Given the description of an element on the screen output the (x, y) to click on. 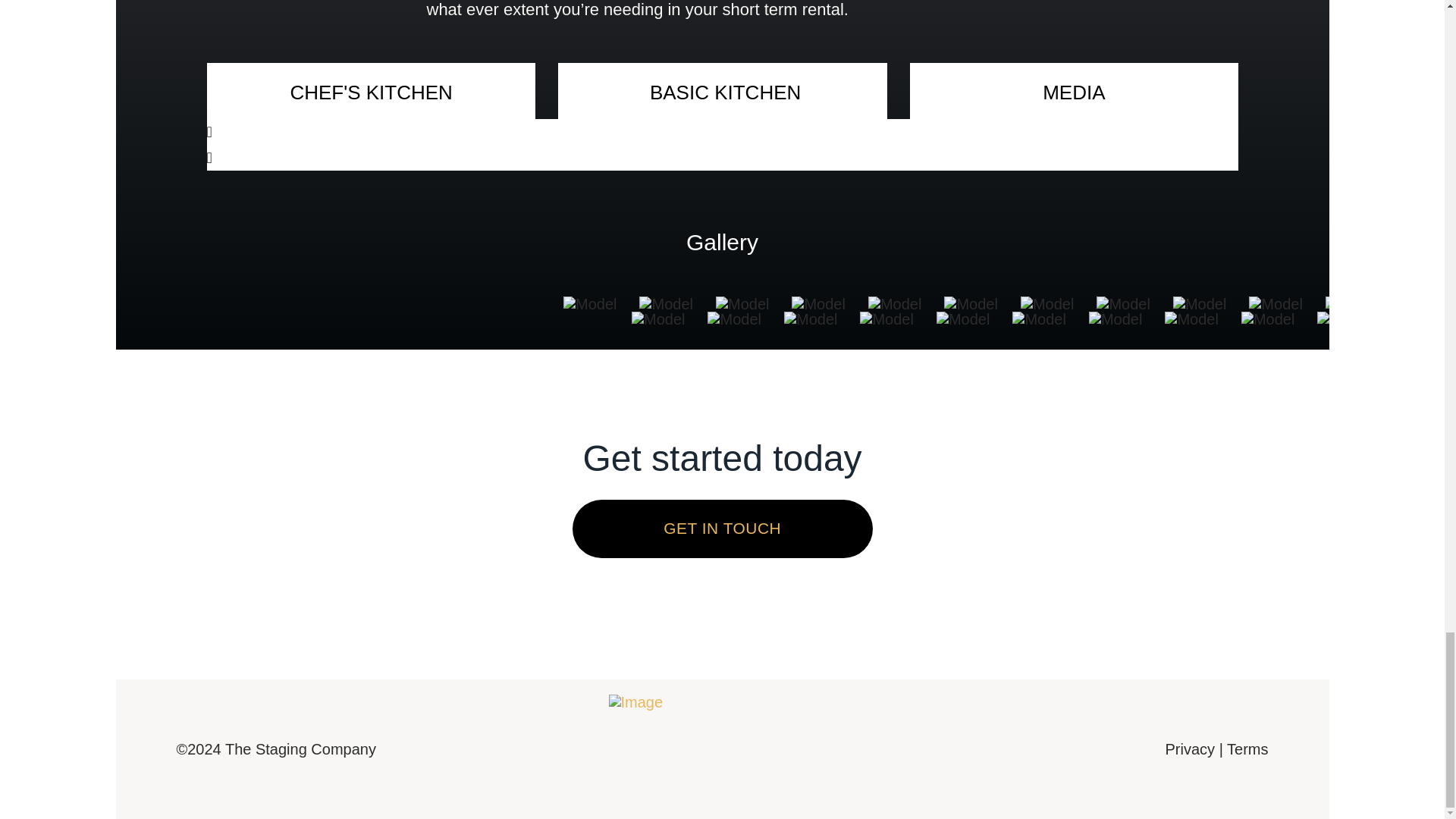
Terms (1247, 749)
GET IN TOUCH (722, 528)
Privacy (1190, 749)
